Given the description of an element on the screen output the (x, y) to click on. 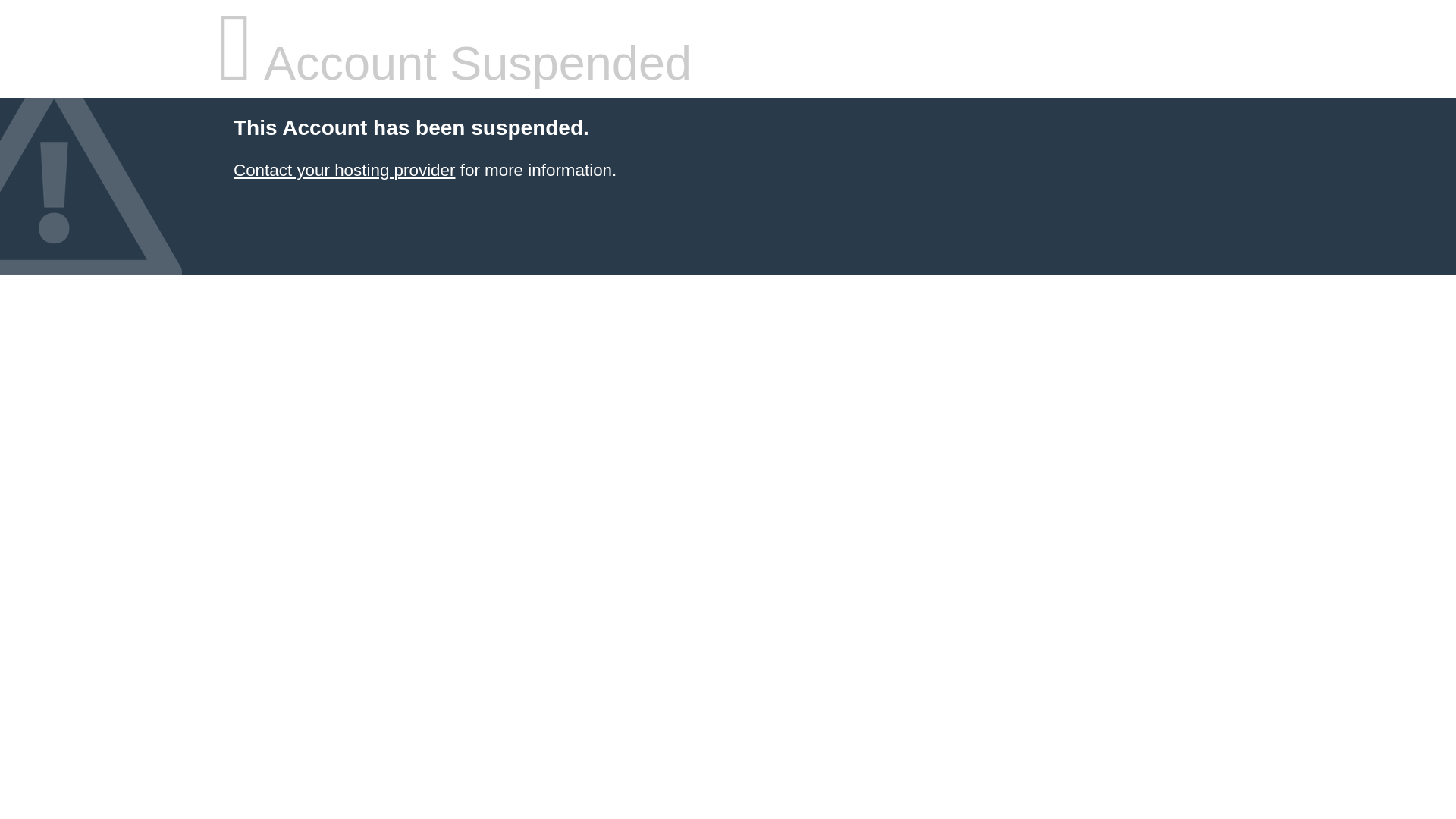
Contact your hosting provider (343, 169)
